Given the description of an element on the screen output the (x, y) to click on. 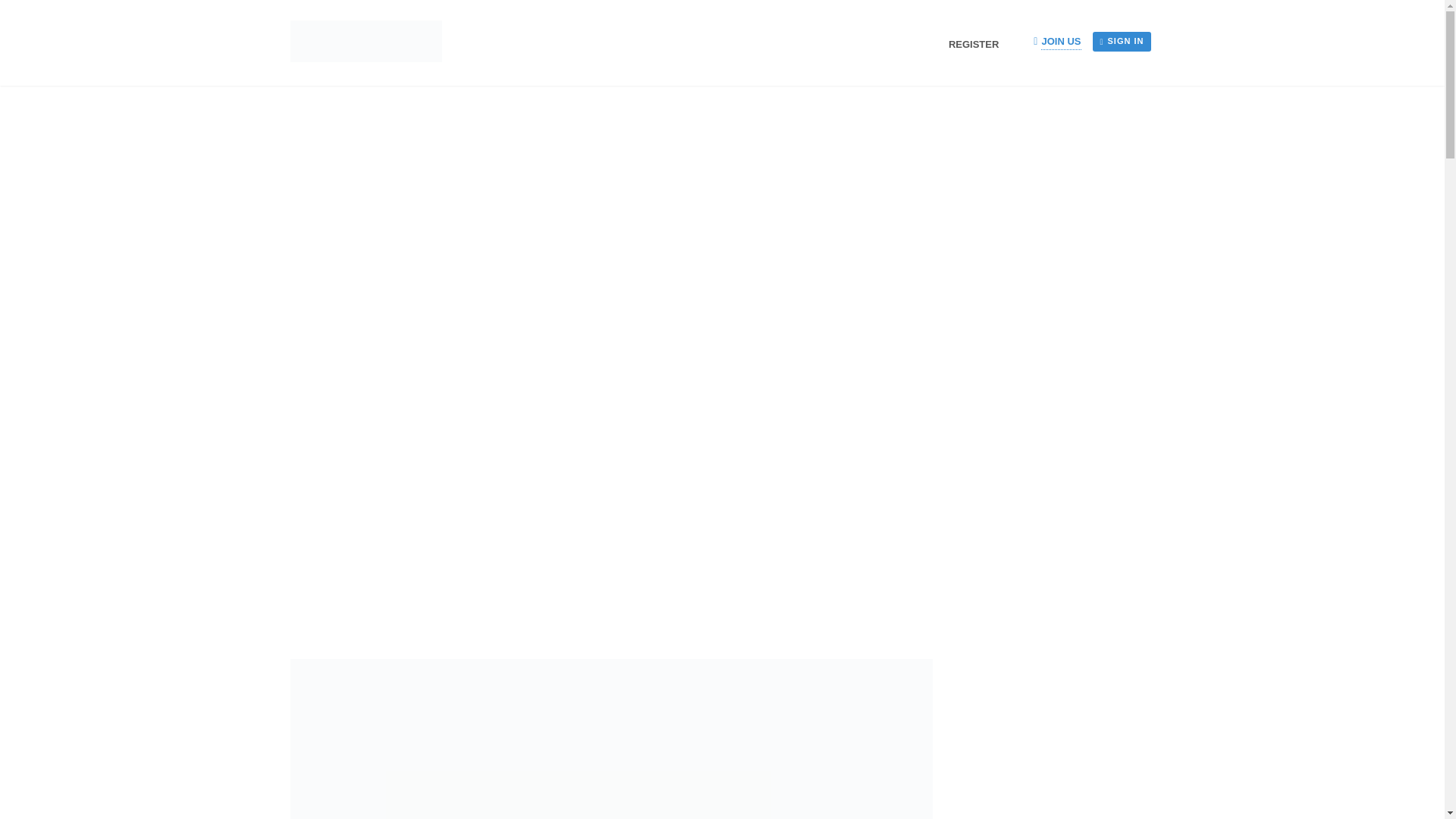
SIGN IN (1121, 41)
REGISTER (979, 43)
JOIN US (1060, 41)
